Given the description of an element on the screen output the (x, y) to click on. 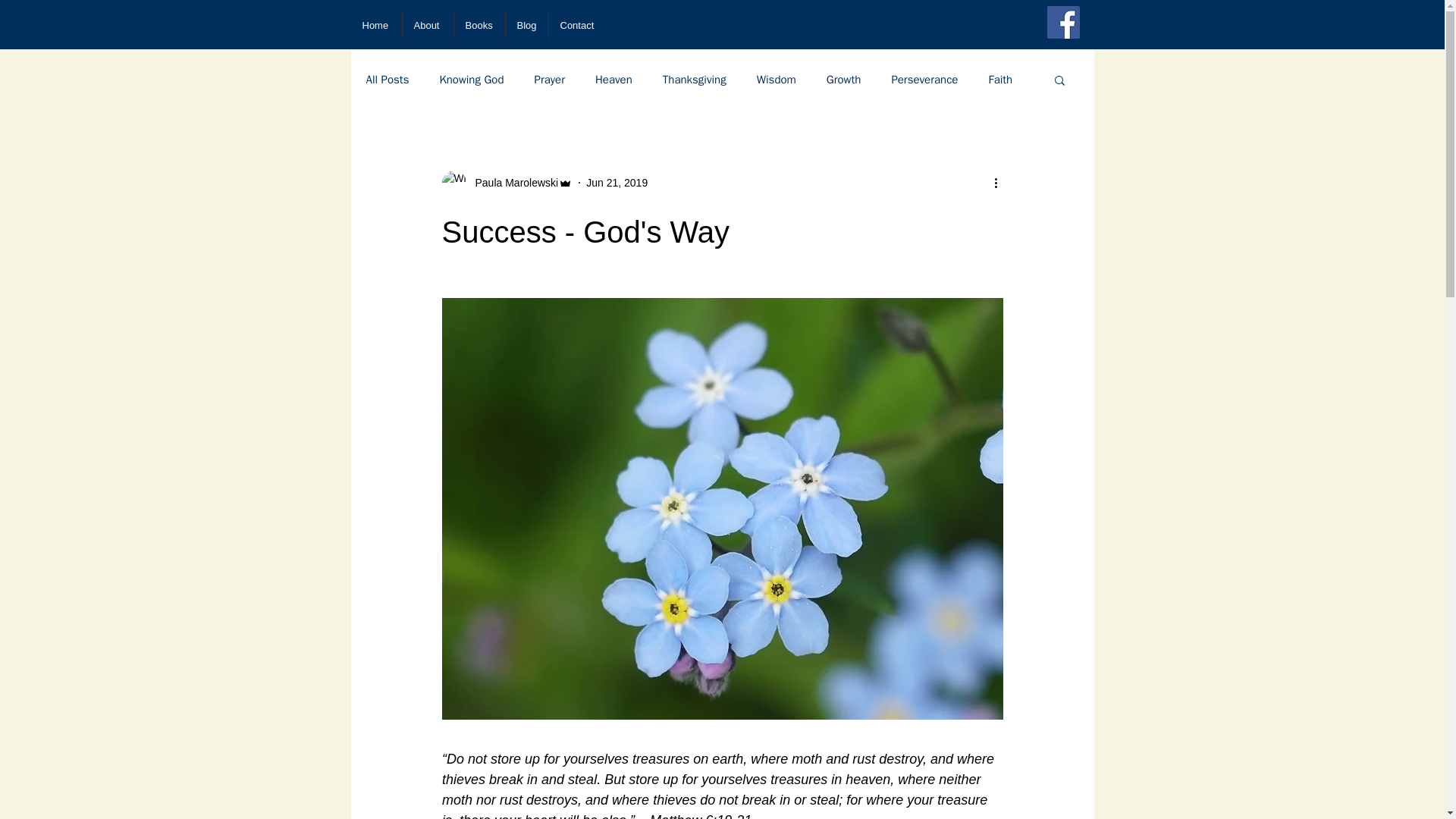
Perseverance (924, 79)
Paula Marolewski (506, 182)
Knowing God (471, 79)
Wisdom (776, 79)
Contact (577, 25)
About (426, 25)
Paula Marolewski (511, 182)
Jun 21, 2019 (616, 182)
Home (375, 25)
Thanksgiving (694, 79)
